Given the description of an element on the screen output the (x, y) to click on. 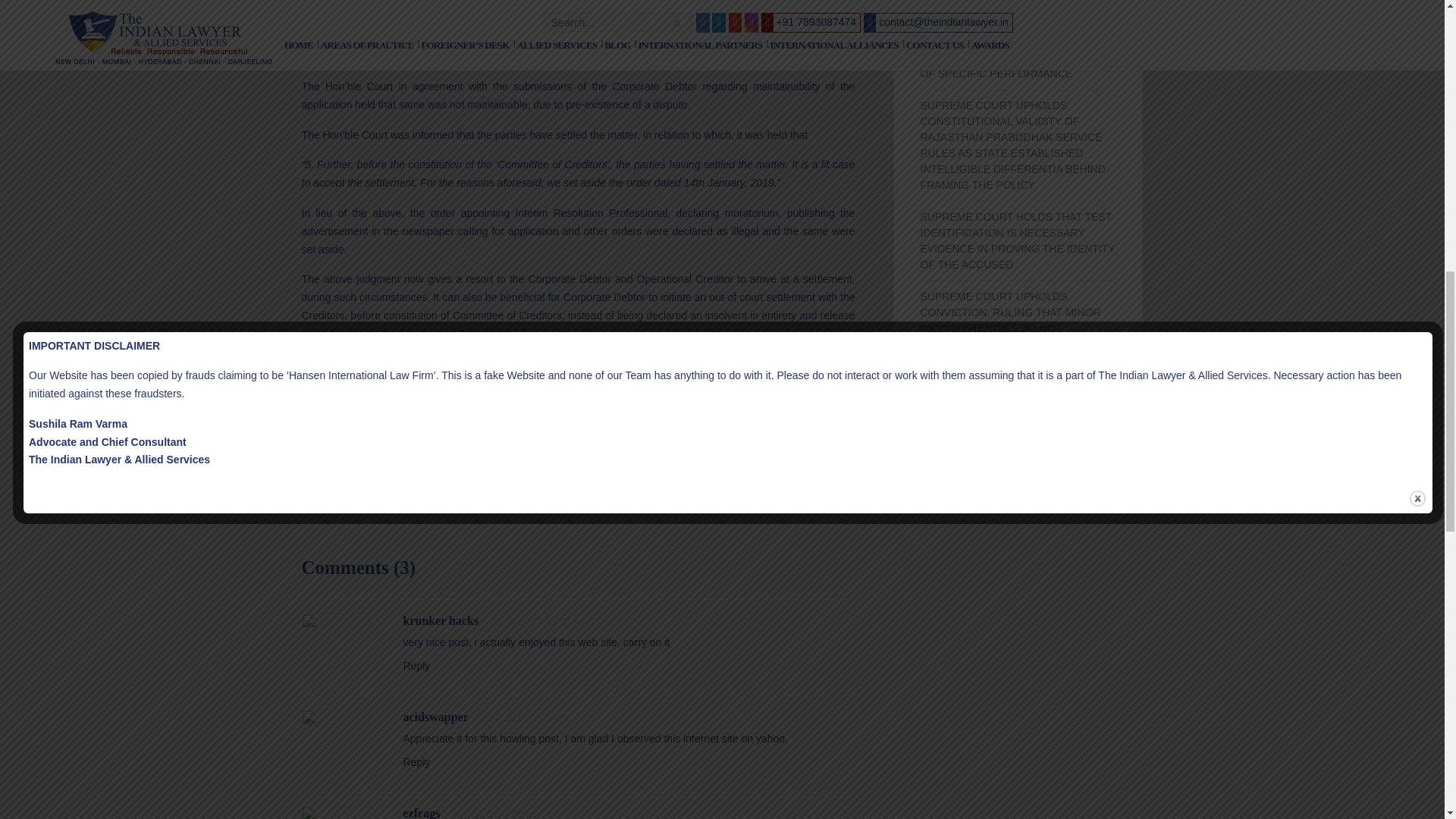
Reply (416, 665)
Reply (416, 761)
